Given the description of an element on the screen output the (x, y) to click on. 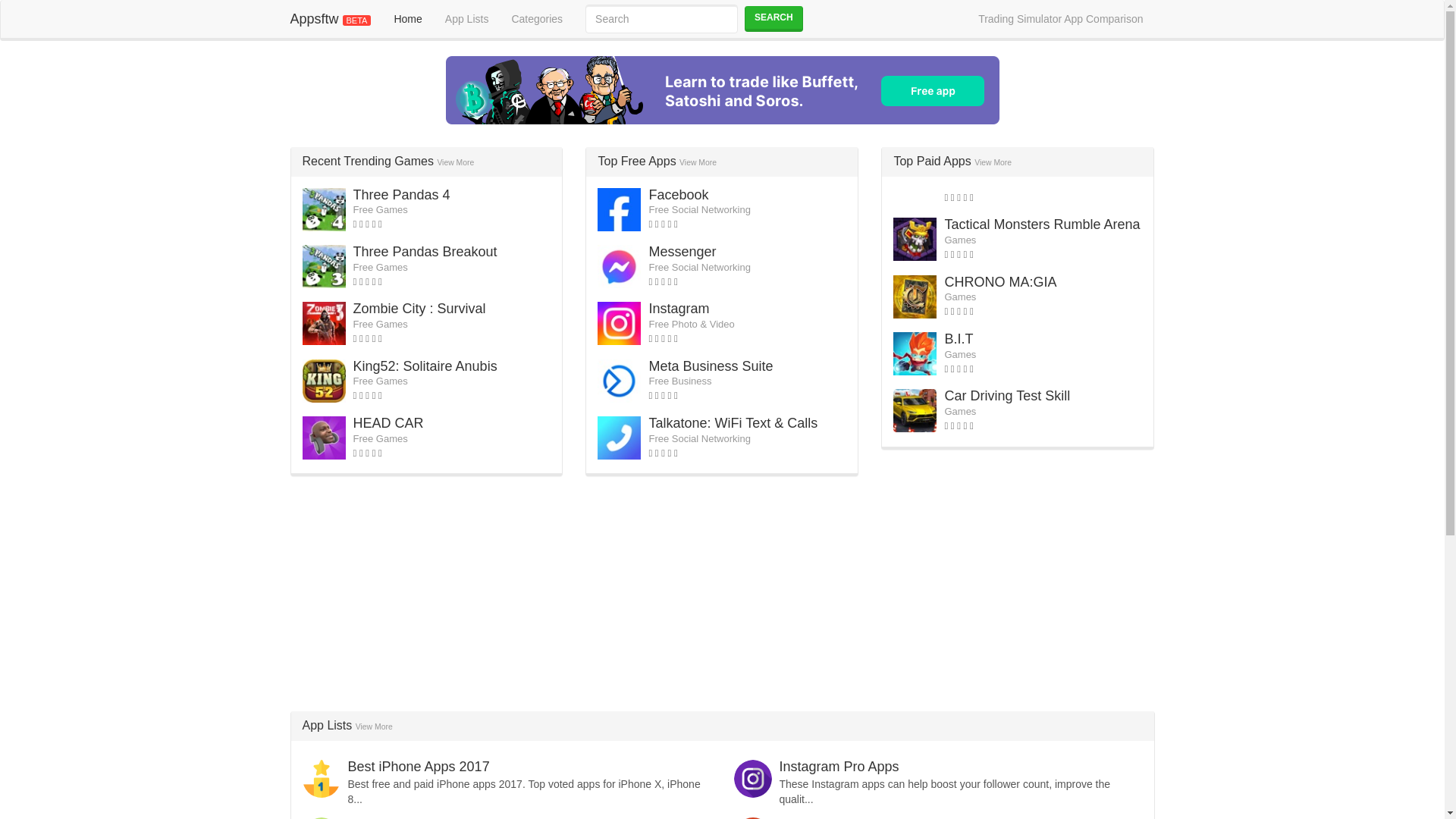
View HEAD CAR (388, 422)
B.I.T (957, 338)
View Three Pandas 4 (401, 194)
App Lists (466, 18)
View B.I.T (957, 338)
View Tactical Monsters Rumble Arena (1041, 224)
Zombie City : Survival (419, 308)
Home (406, 18)
View CHRONO MA:GIA (1000, 281)
